Given the description of an element on the screen output the (x, y) to click on. 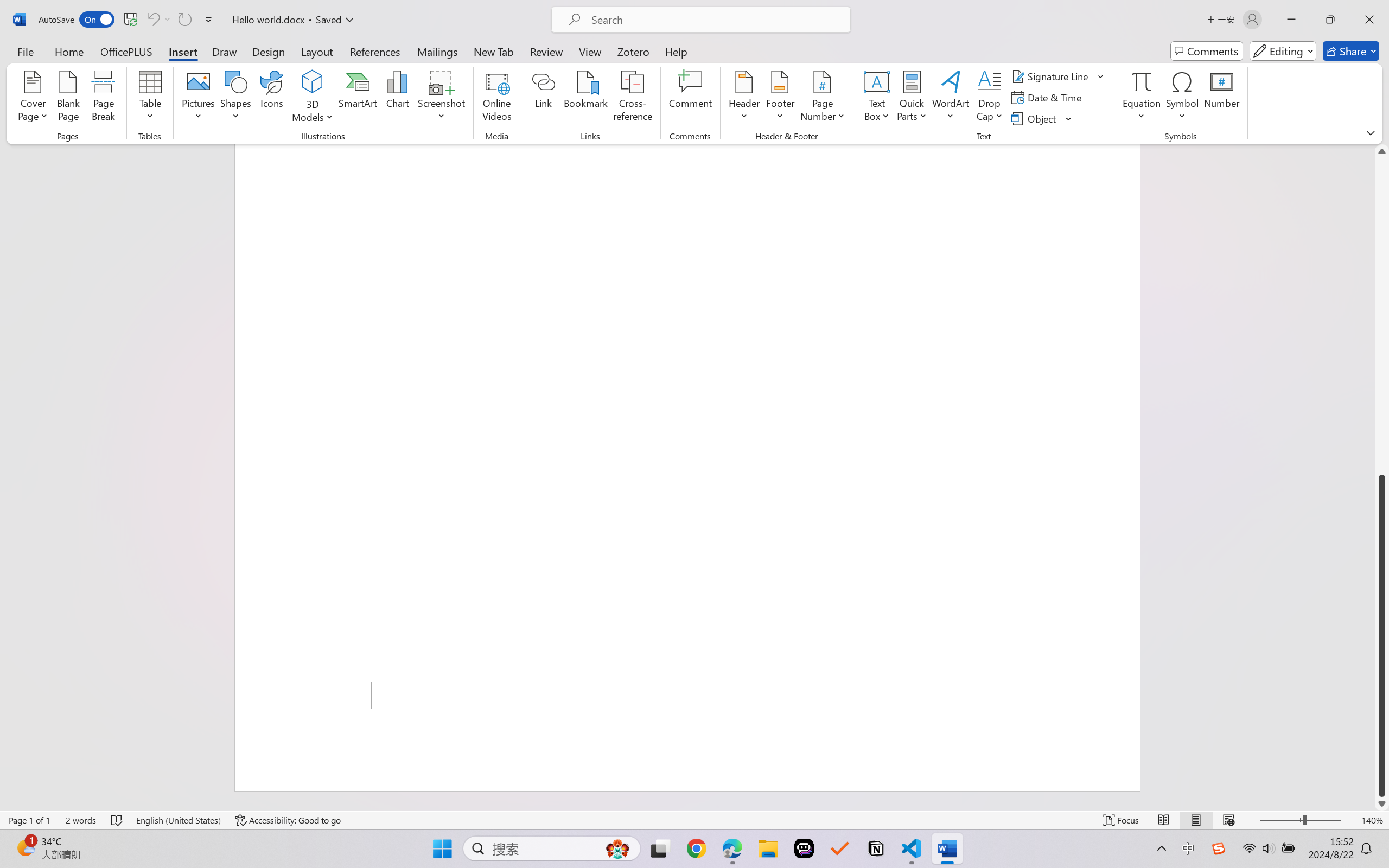
Page Break (103, 97)
Chart... (396, 97)
3D Models (312, 81)
Number... (1221, 97)
Zoom In (1348, 819)
Insert (182, 51)
Quick Parts (912, 97)
Bookmark... (585, 97)
Layout (316, 51)
Line up (1382, 150)
Link (543, 97)
Review (546, 51)
Design (268, 51)
Symbol (1181, 97)
References (375, 51)
